Given the description of an element on the screen output the (x, y) to click on. 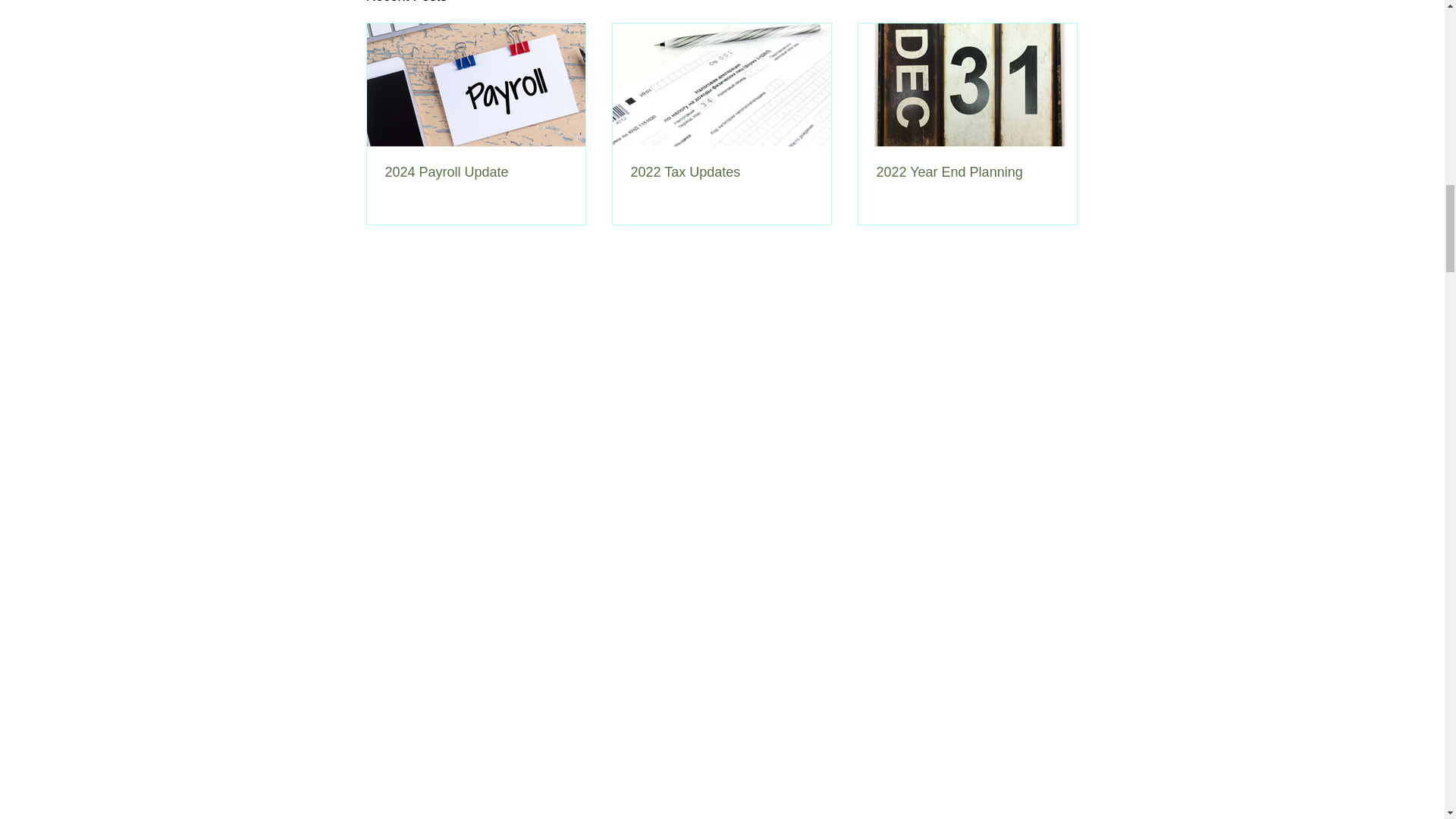
2022 Year End Planning (967, 172)
2024 Payroll Update (476, 172)
See All (1061, 3)
2022 Tax Updates (721, 172)
